Given the description of an element on the screen output the (x, y) to click on. 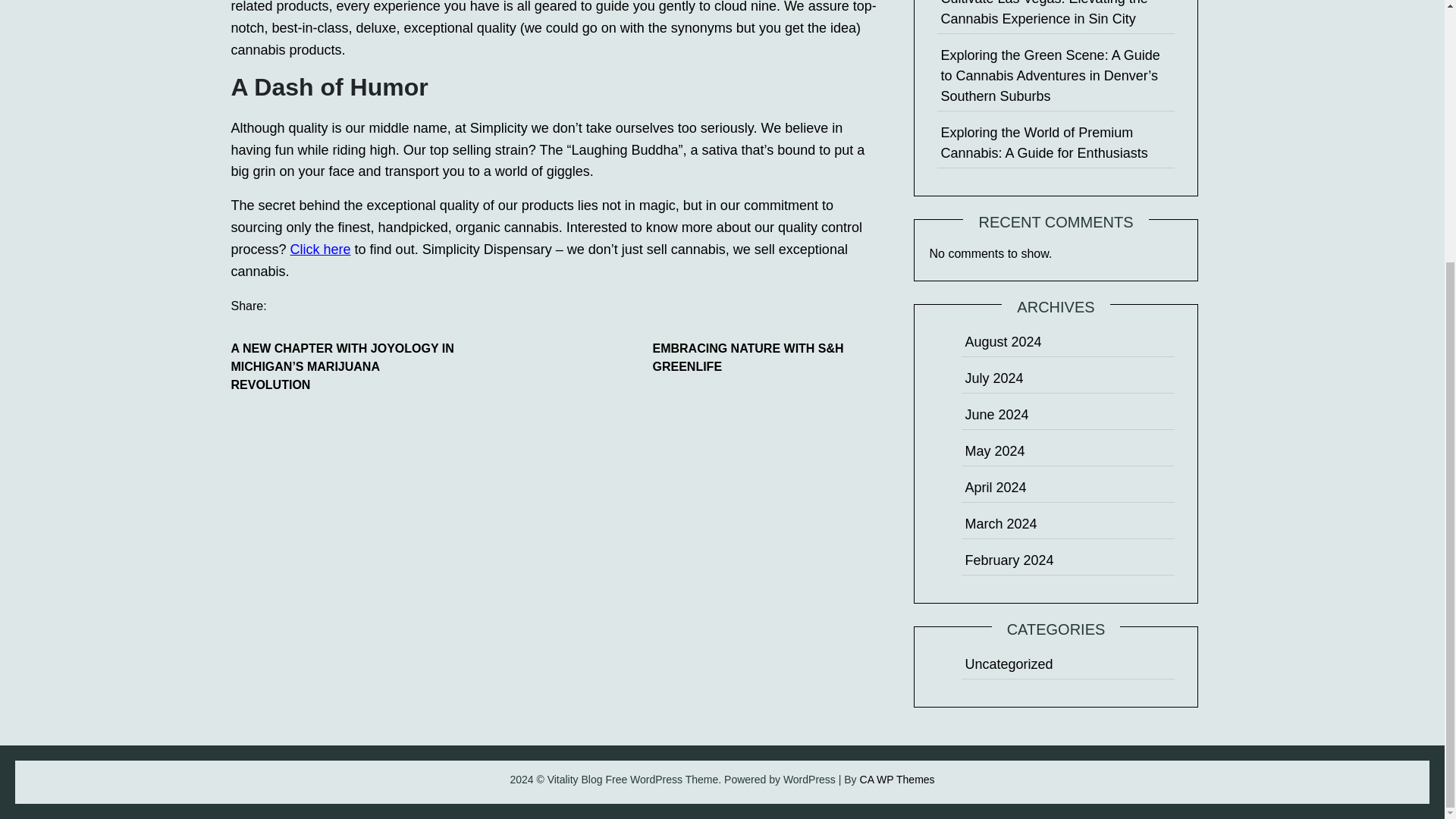
February 2024 (1007, 560)
March 2024 (999, 523)
July 2024 (993, 378)
June 2024 (995, 414)
August 2024 (1002, 341)
Uncategorized (1007, 663)
Click here (319, 249)
CA WP Themes (897, 779)
May 2024 (994, 450)
April 2024 (994, 487)
